Given the description of an element on the screen output the (x, y) to click on. 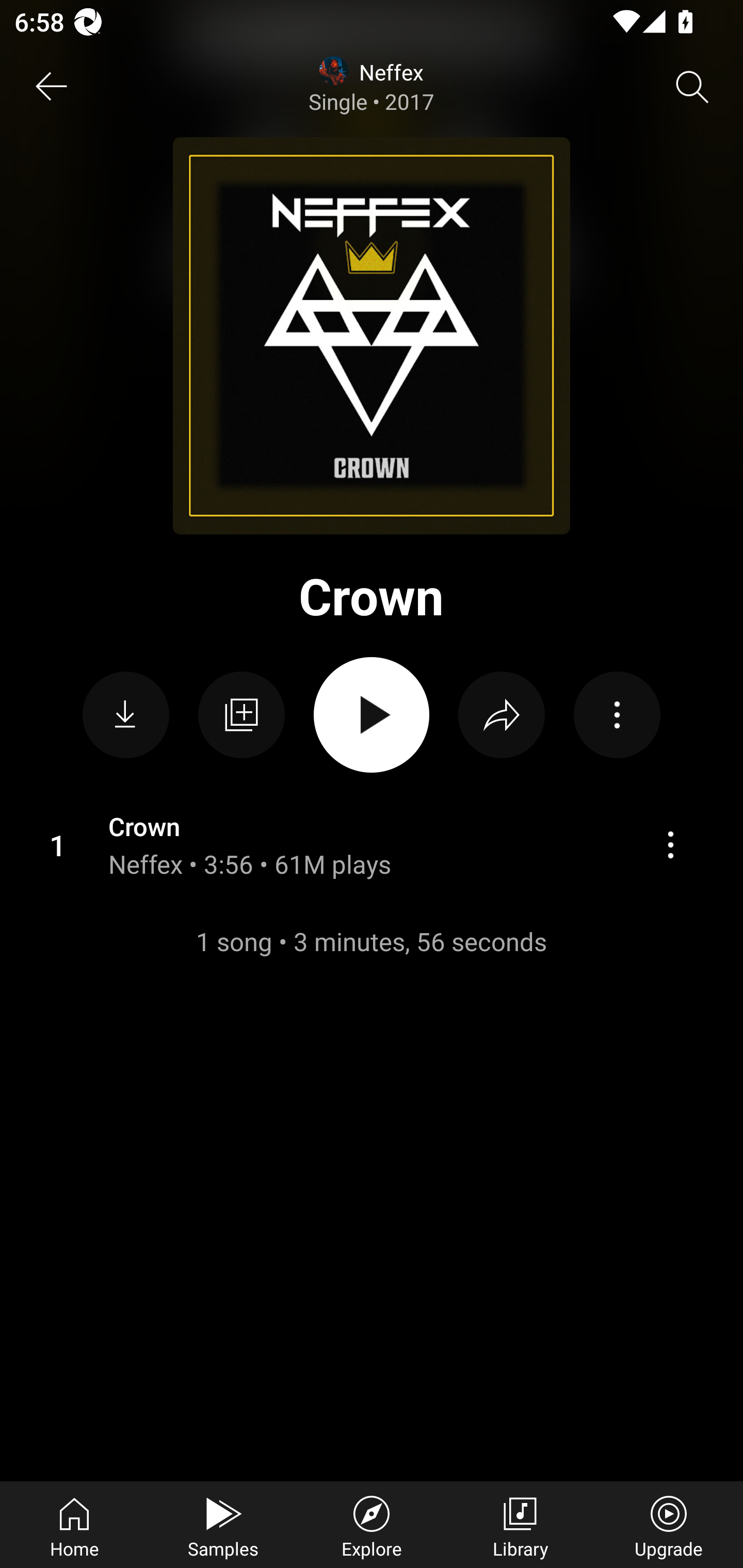
Back (50, 86)
Search (692, 86)
PLAY ALL (371, 714)
Download (125, 714)
Save to library (241, 714)
Share (501, 714)
Action menu (616, 714)
Action menu (371, 845)
Action menu (670, 844)
Home (74, 1524)
Explore (371, 1524)
Library (519, 1524)
Upgrade (668, 1524)
